Given the description of an element on the screen output the (x, y) to click on. 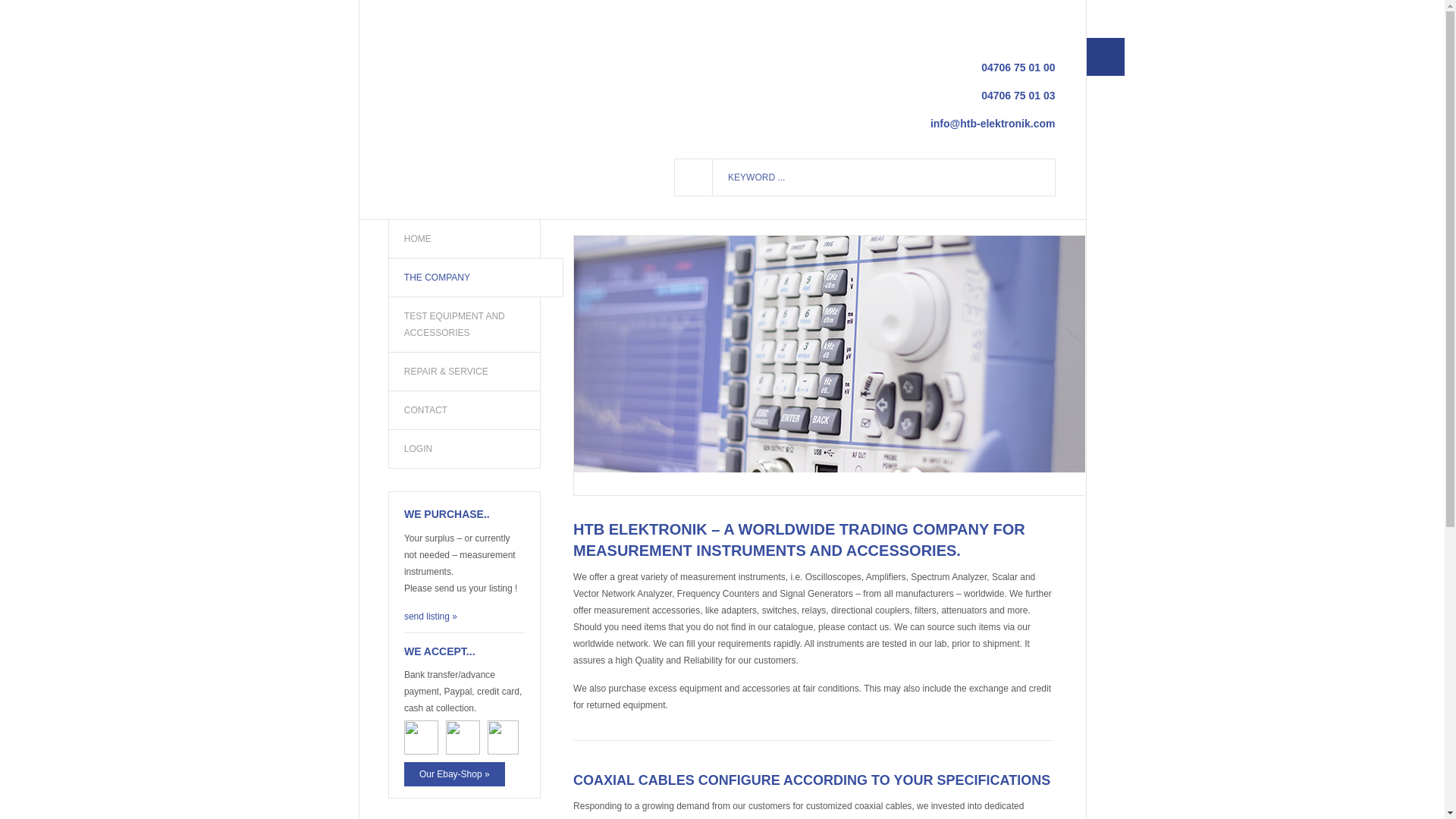
The current page is already displayed in English (1048, 20)
CONTACT (464, 410)
TEST EQUIPMENT AND ACCESSORIES (464, 324)
Search (694, 176)
LOGIN (464, 448)
HOME (464, 238)
keyword ... (883, 176)
Diese Seite in Deutsch anzeigen (1027, 20)
THE COMPANY (475, 277)
Search (694, 176)
Anmelden (1105, 56)
